Given the description of an element on the screen output the (x, y) to click on. 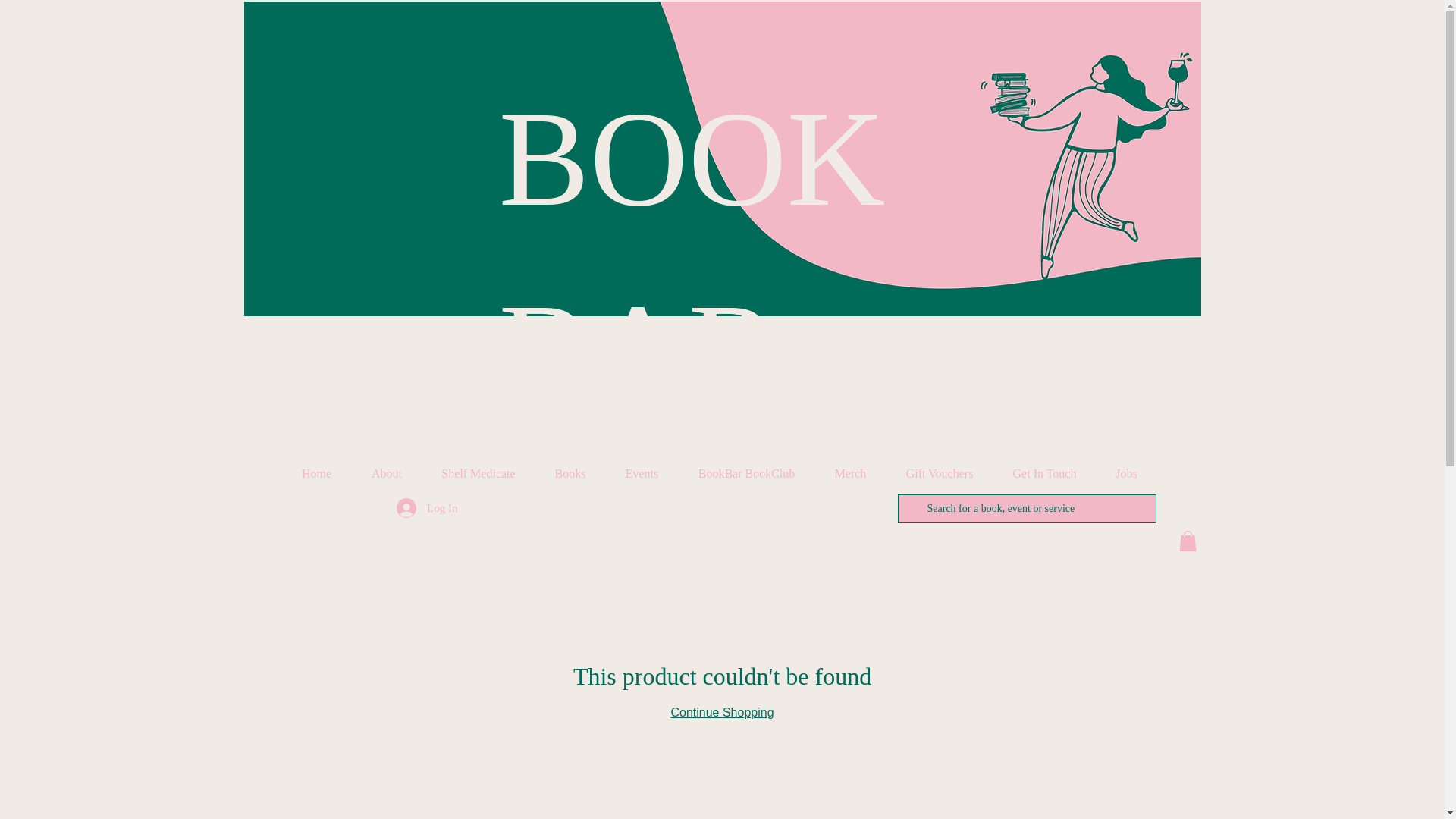
Jobs (1126, 474)
Get In Touch (1044, 474)
Events (641, 474)
BookBar BookClub (745, 474)
Merch (849, 474)
Gift Vouchers (938, 474)
Books (570, 474)
Log In (426, 507)
Continue Shopping (721, 712)
Shelf Medicate (478, 474)
About (387, 474)
Home (317, 474)
